Given the description of an element on the screen output the (x, y) to click on. 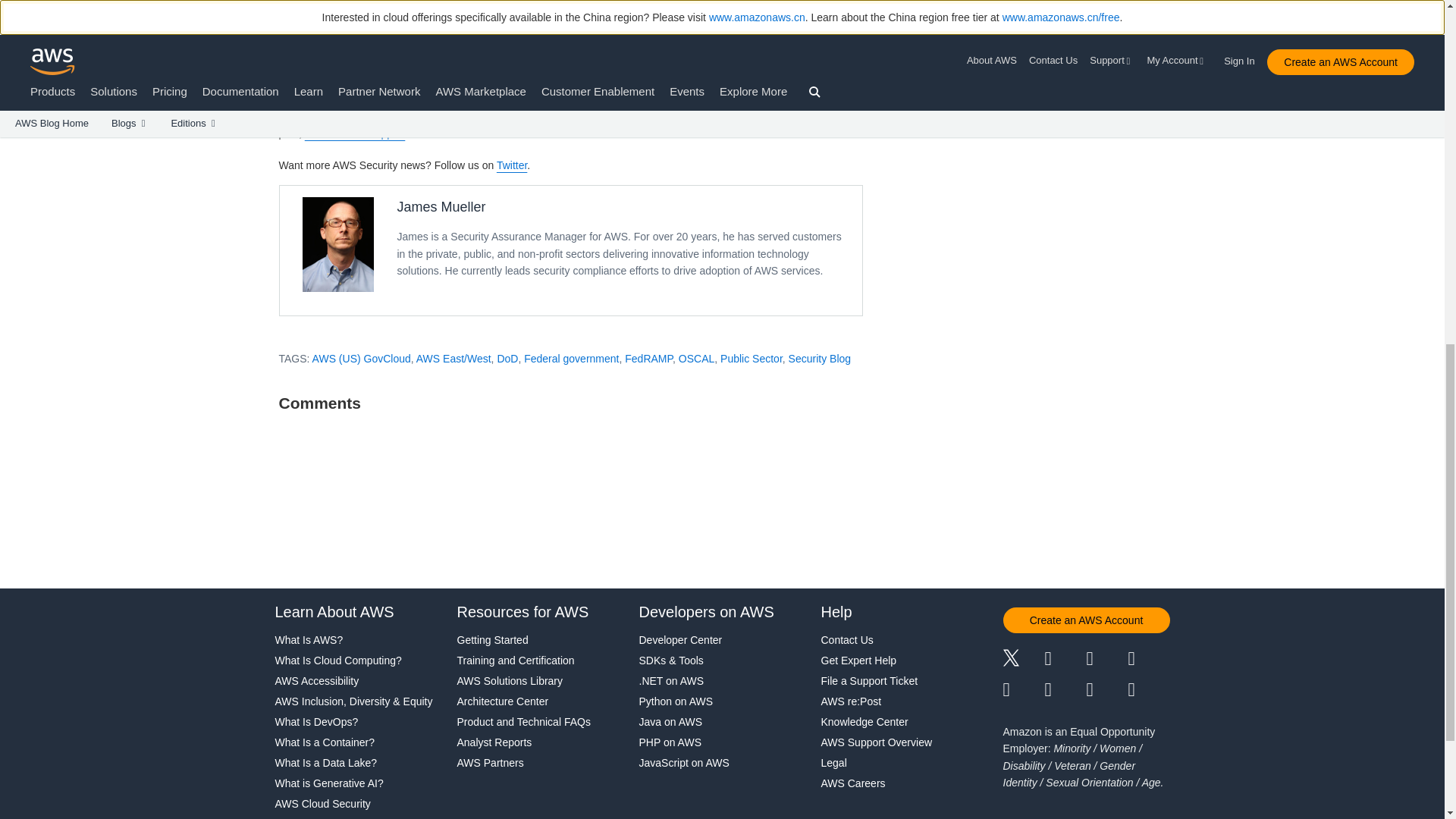
Email (1149, 690)
Linkedin (1106, 659)
Instagram (1149, 659)
YouTube (1065, 690)
Twitter (1023, 659)
Podcast (1106, 690)
Facebook (1065, 659)
Twitter (511, 164)
Twitch (1023, 690)
